Given the description of an element on the screen output the (x, y) to click on. 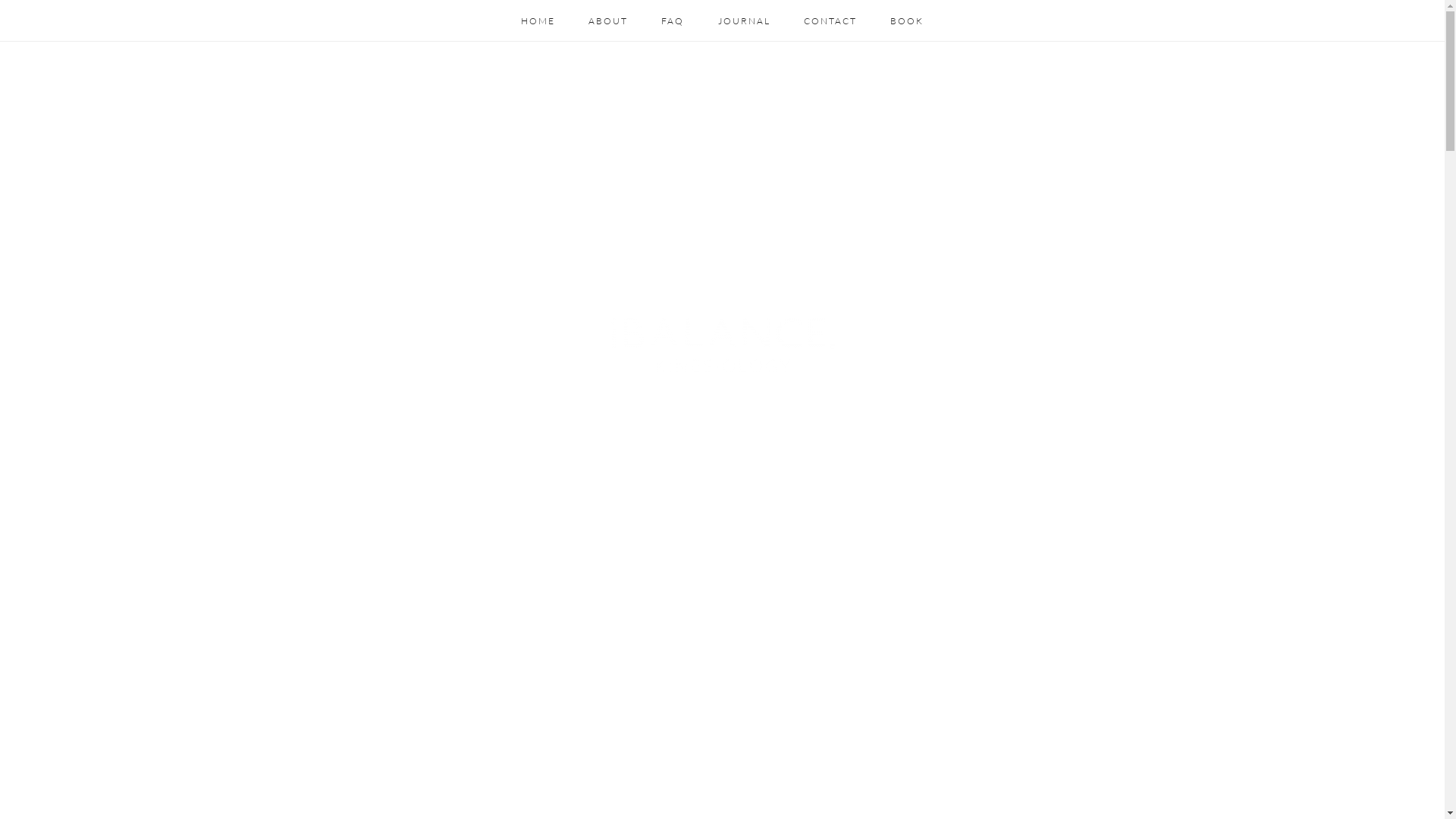
BOOK Element type: text (906, 20)
FAQ Element type: text (672, 20)
Skip to main content Element type: text (0, 0)
ABOUT Element type: text (608, 20)
JOURNAL Element type: text (743, 20)
CONTACT Element type: text (830, 20)
HOME Element type: text (537, 20)
